Given the description of an element on the screen output the (x, y) to click on. 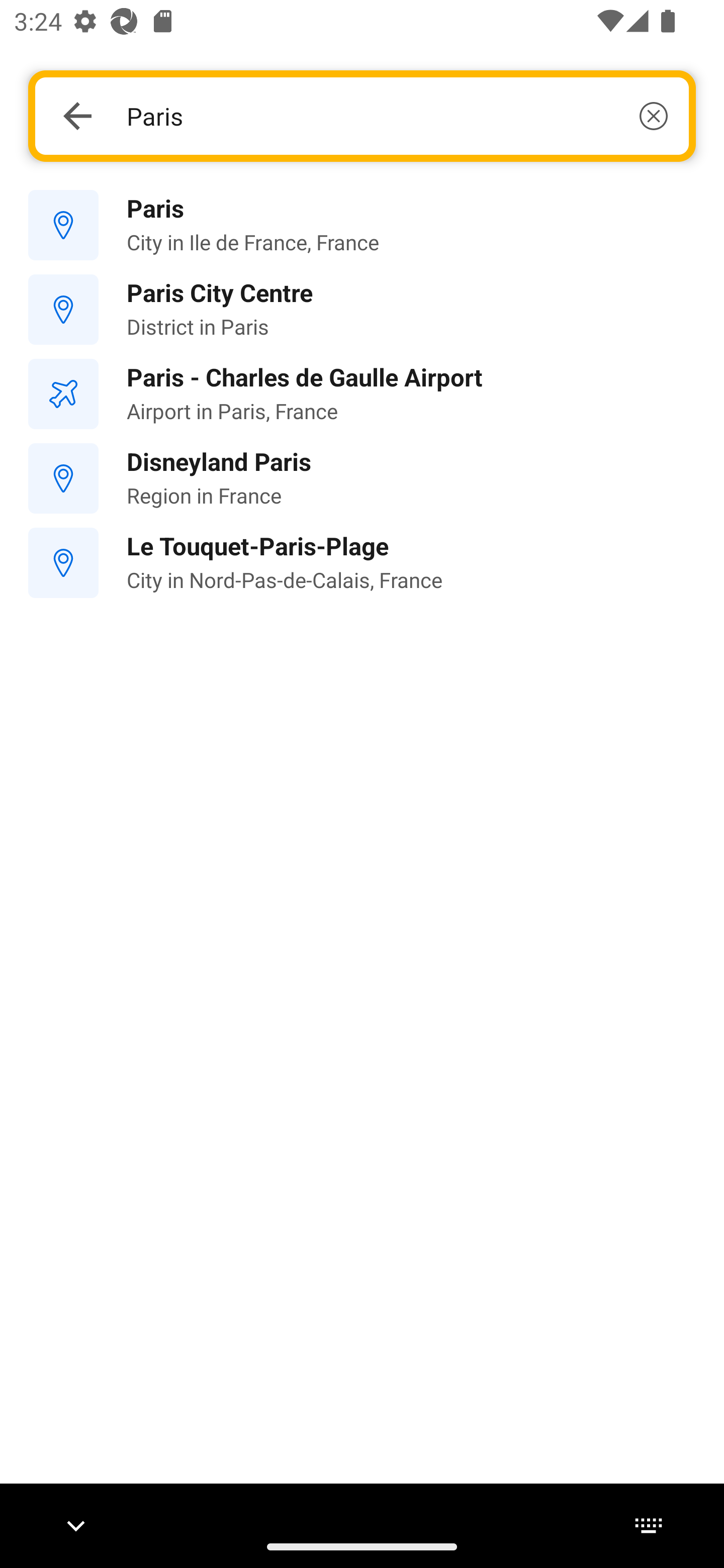
Paris (396, 115)
Paris City in Ile de France, France (362, 225)
Paris City Centre District in Paris (362, 309)
Disneyland Paris Region in France (362, 477)
